Given the description of an element on the screen output the (x, y) to click on. 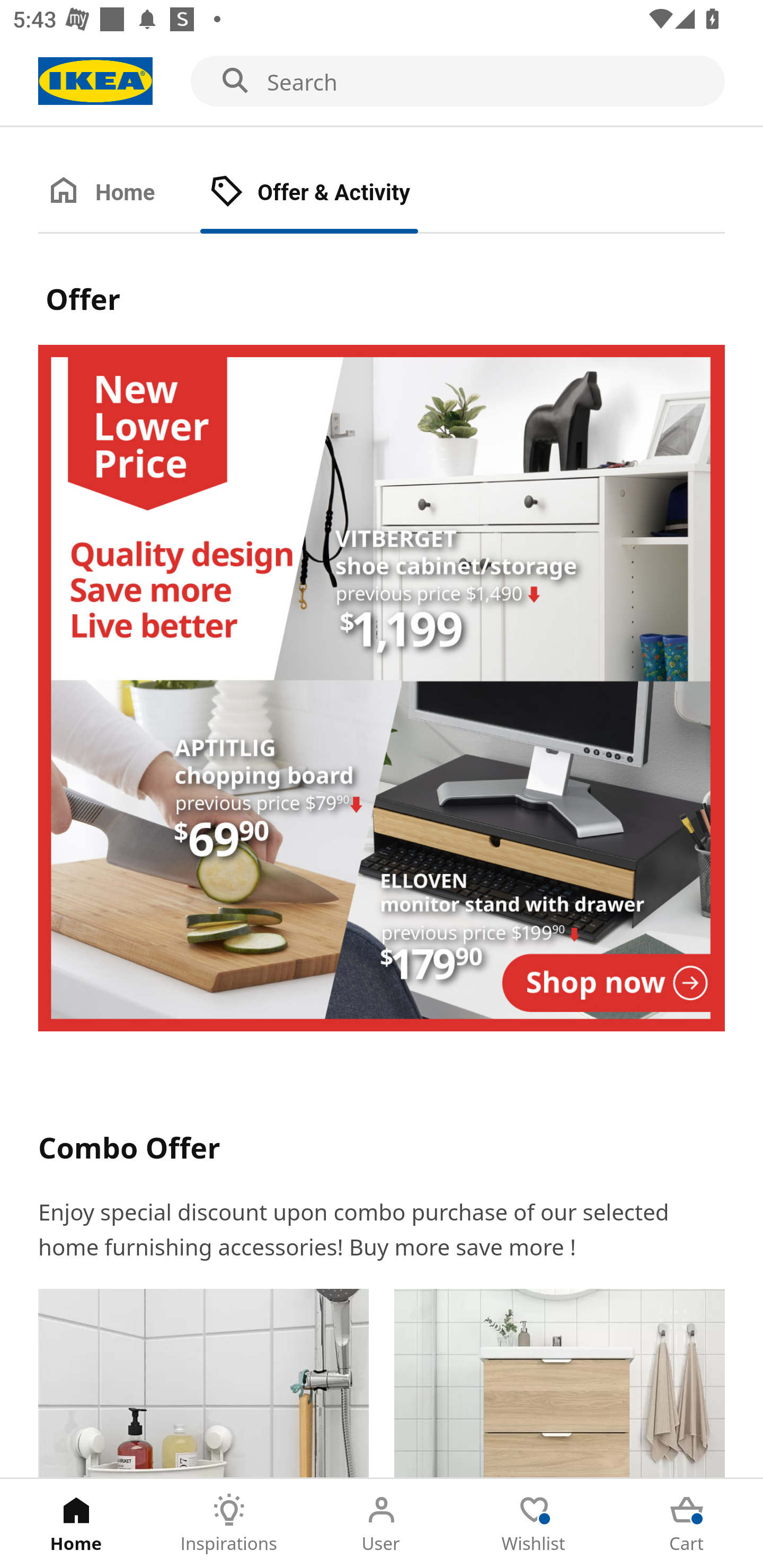
Search (381, 81)
Home
Tab 1 of 2 (118, 192)
Offer & Activity
Tab 2 of 2 (327, 192)
Home
Tab 1 of 5 (76, 1522)
Inspirations
Tab 2 of 5 (228, 1522)
User
Tab 3 of 5 (381, 1522)
Wishlist
Tab 4 of 5 (533, 1522)
Cart
Tab 5 of 5 (686, 1522)
